Given the description of an element on the screen output the (x, y) to click on. 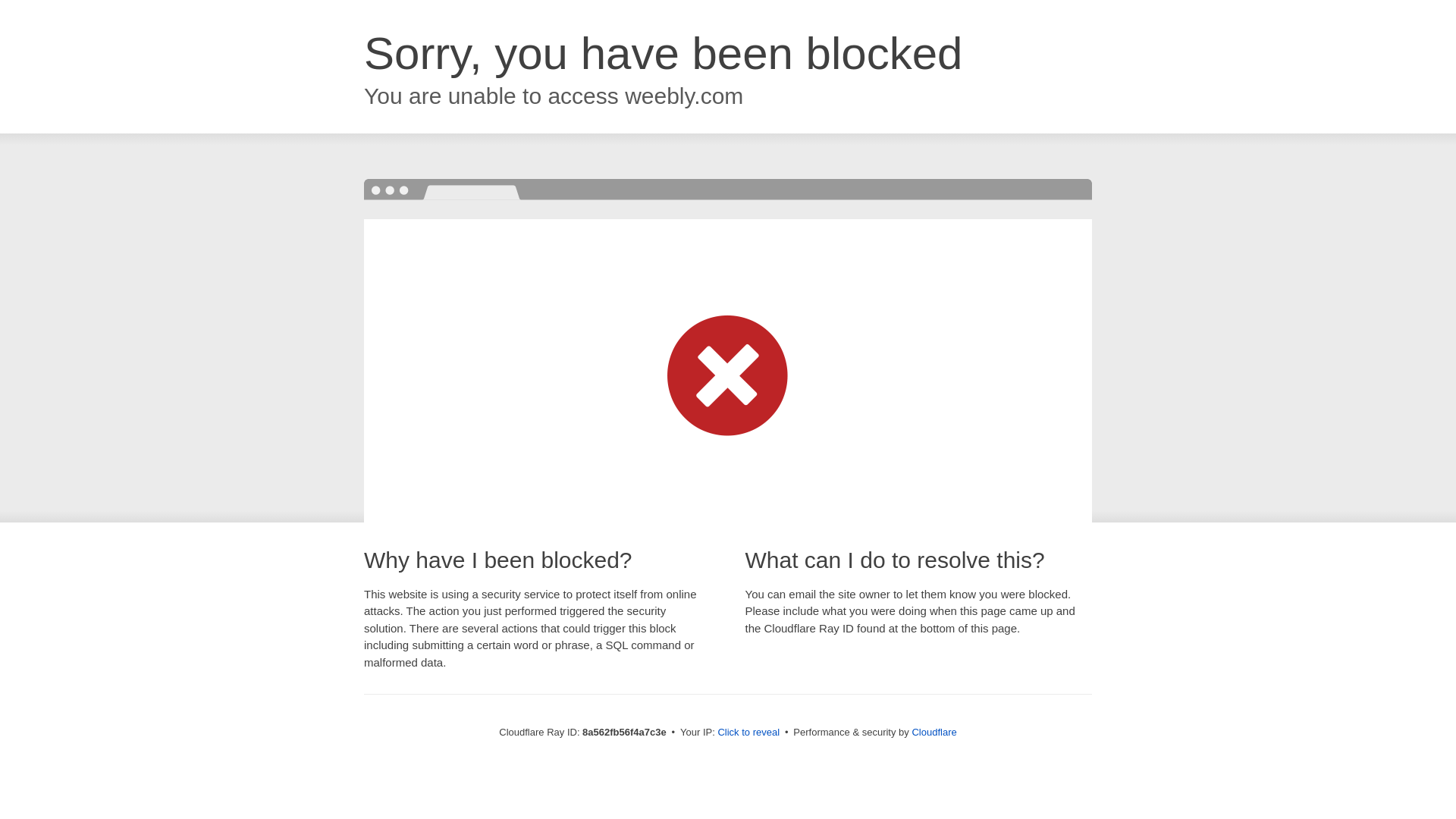
Cloudflare (933, 731)
Click to reveal (747, 732)
